Given the description of an element on the screen output the (x, y) to click on. 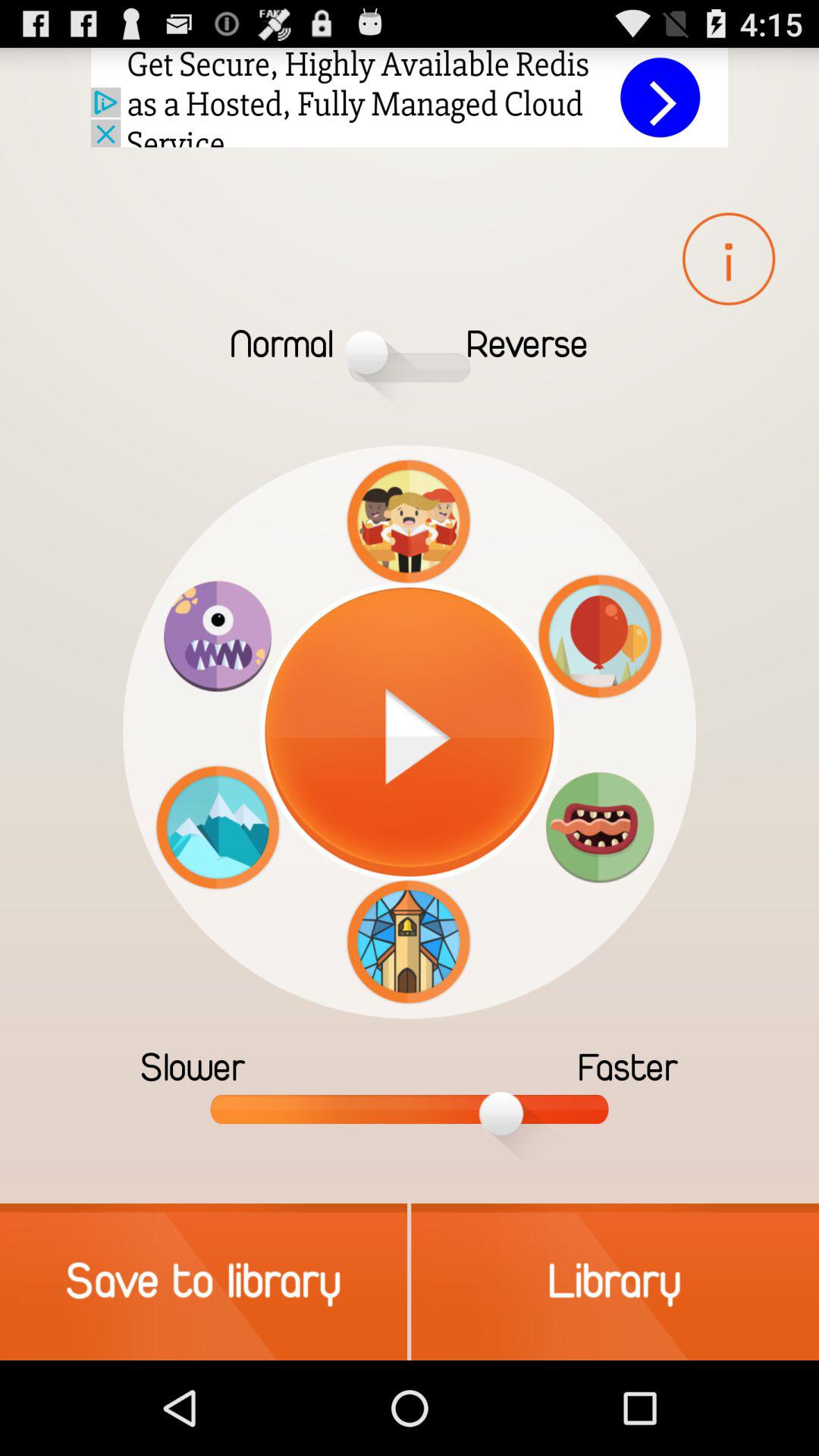
select the house symbol (408, 941)
select the information icon (728, 258)
click on the green icon on the wheel (599, 826)
select the icon above the pause button (408, 521)
select the play icon (409, 731)
